Given the description of an element on the screen output the (x, y) to click on. 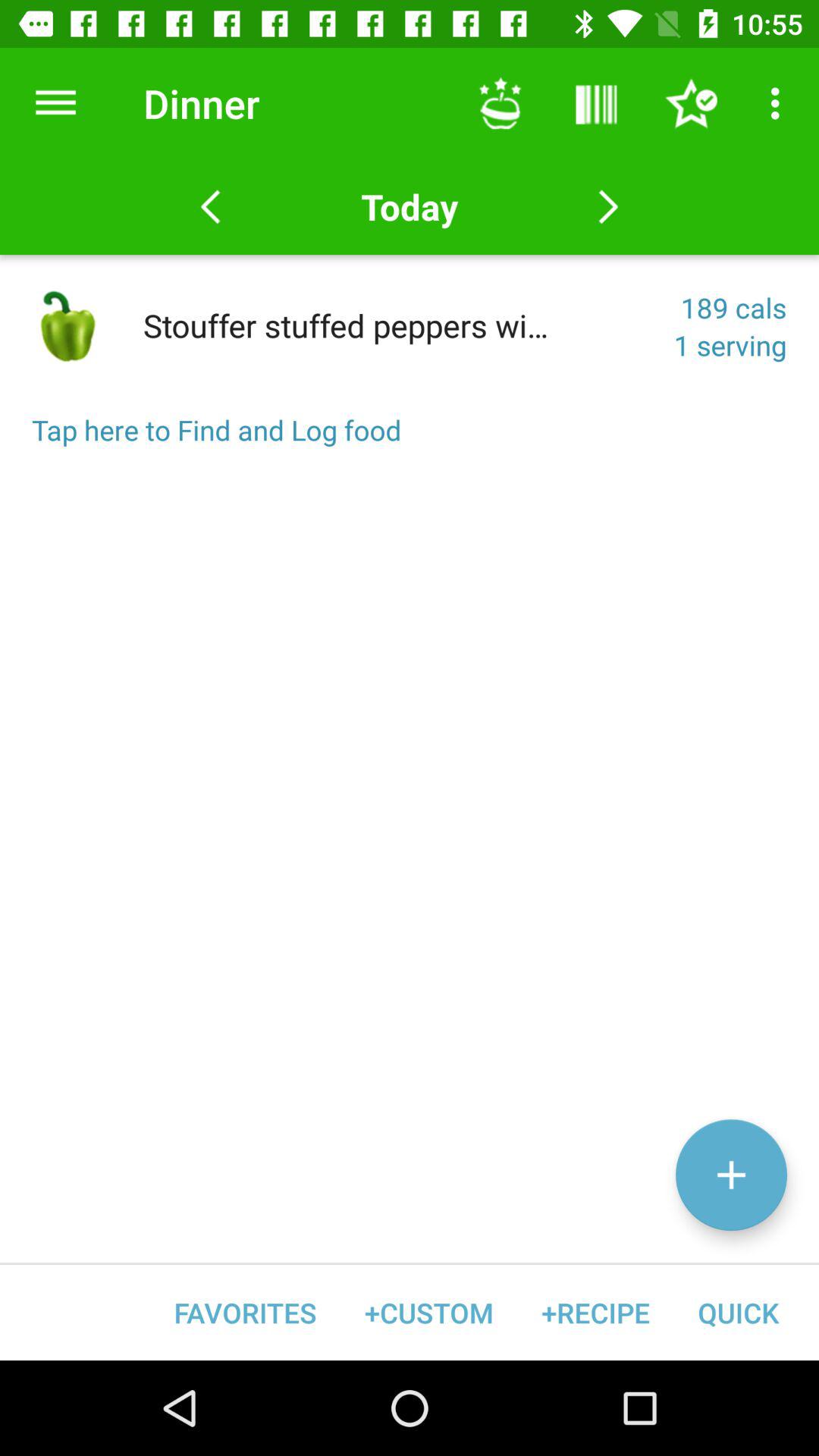
click the icon to the right of the favorites (428, 1312)
